Given the description of an element on the screen output the (x, y) to click on. 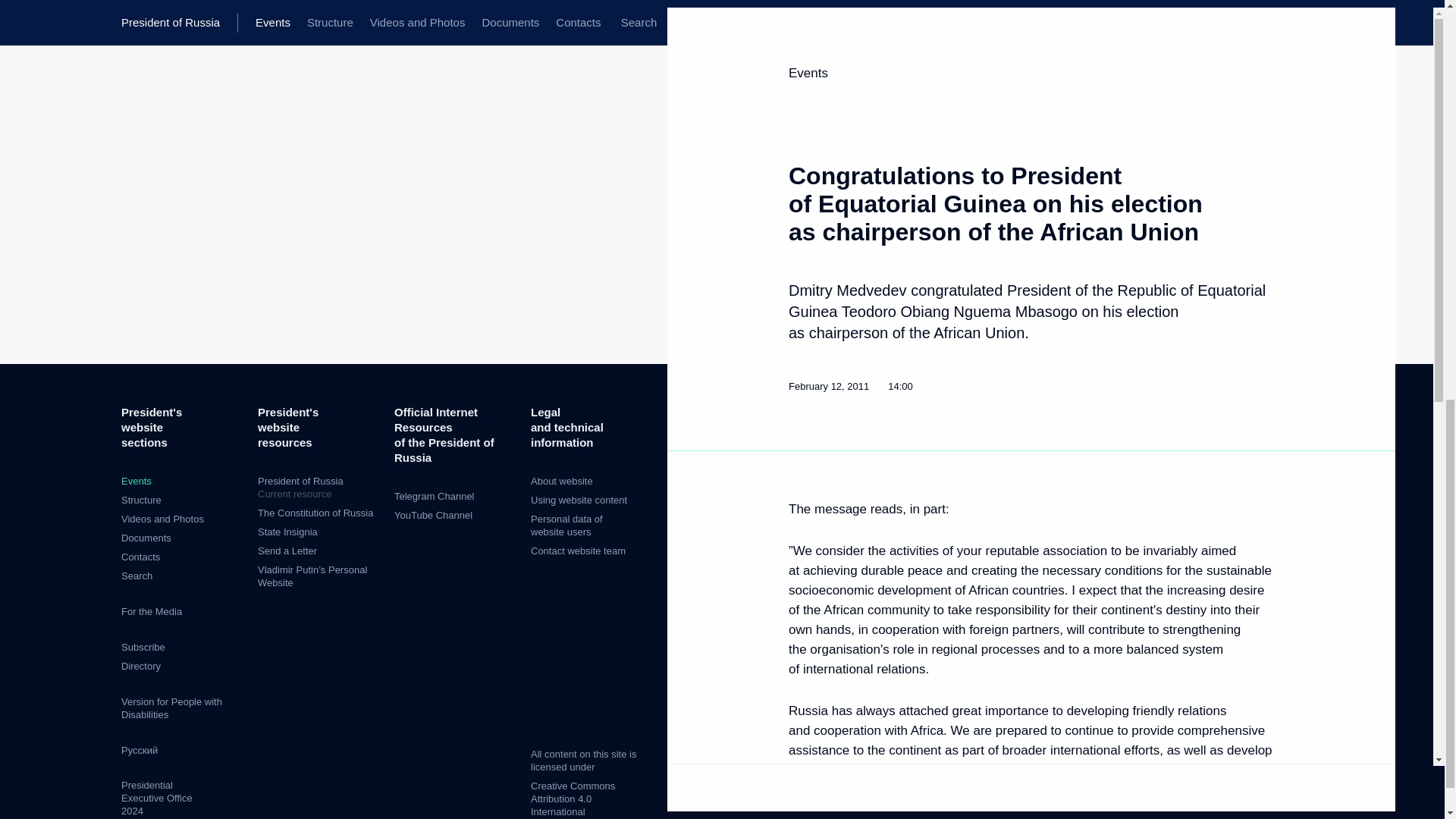
Using website content (579, 500)
Contact website team (578, 550)
Documents (145, 537)
Send a Letter (287, 550)
Structure (140, 500)
Subscribe (142, 646)
Personal data of website users (566, 525)
Videos and Photos (161, 518)
Equatorial Guinea (1012, 358)
Events (135, 480)
